Given the description of an element on the screen output the (x, y) to click on. 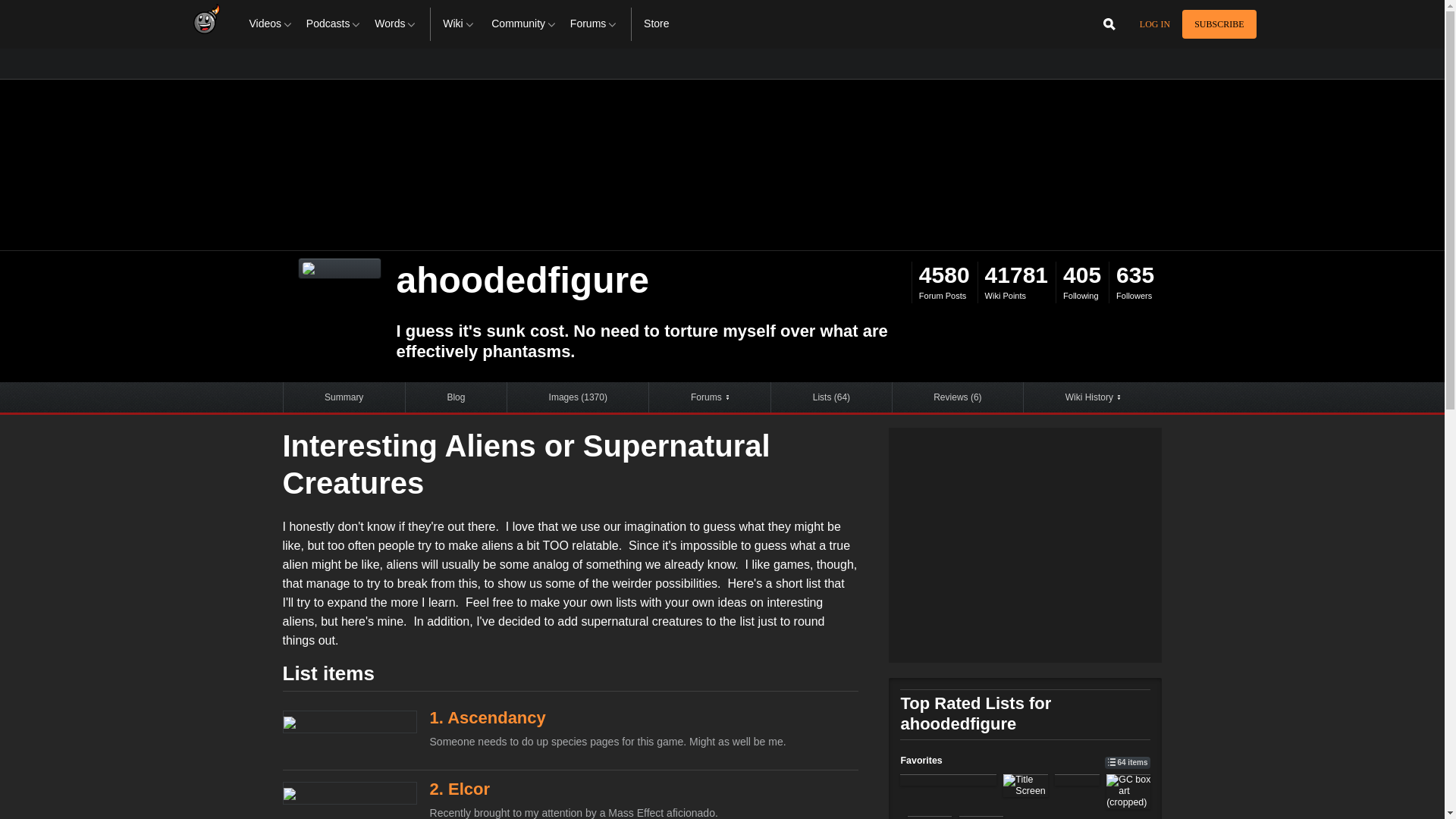
Podcasts (333, 24)
Words (395, 24)
Videos (271, 24)
